Given the description of an element on the screen output the (x, y) to click on. 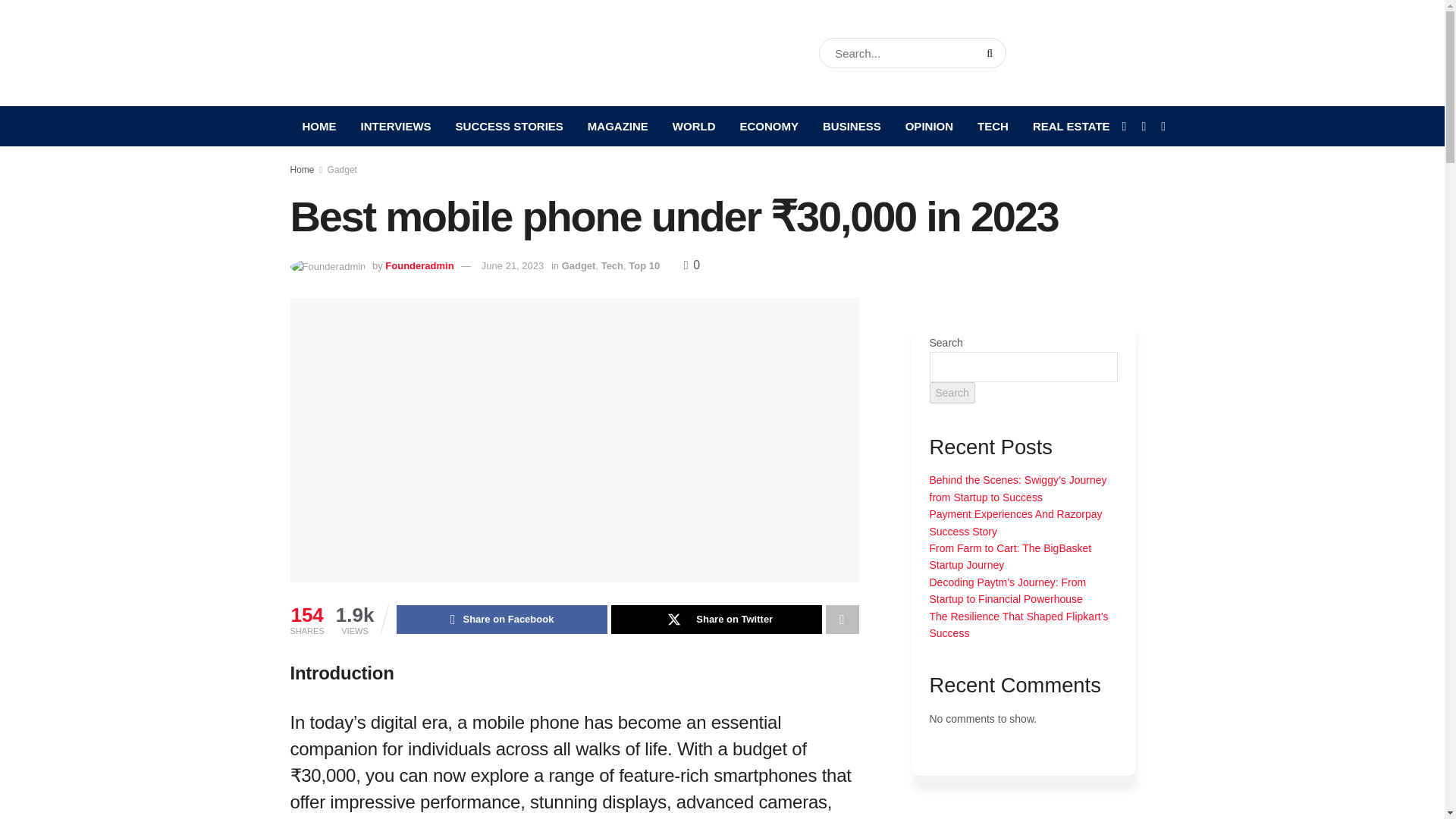
BUSINESS (851, 126)
OPINION (929, 126)
June 21, 2023 (512, 265)
WORLD (694, 126)
ECONOMY (769, 126)
0 (692, 264)
Founderadmin (418, 265)
Gadget (341, 169)
REAL ESTATE (1071, 126)
TECH (992, 126)
Share on Facebook (501, 619)
MAGAZINE (618, 126)
SUCCESS STORIES (509, 126)
Tech (612, 265)
HOME (318, 126)
